Given the description of an element on the screen output the (x, y) to click on. 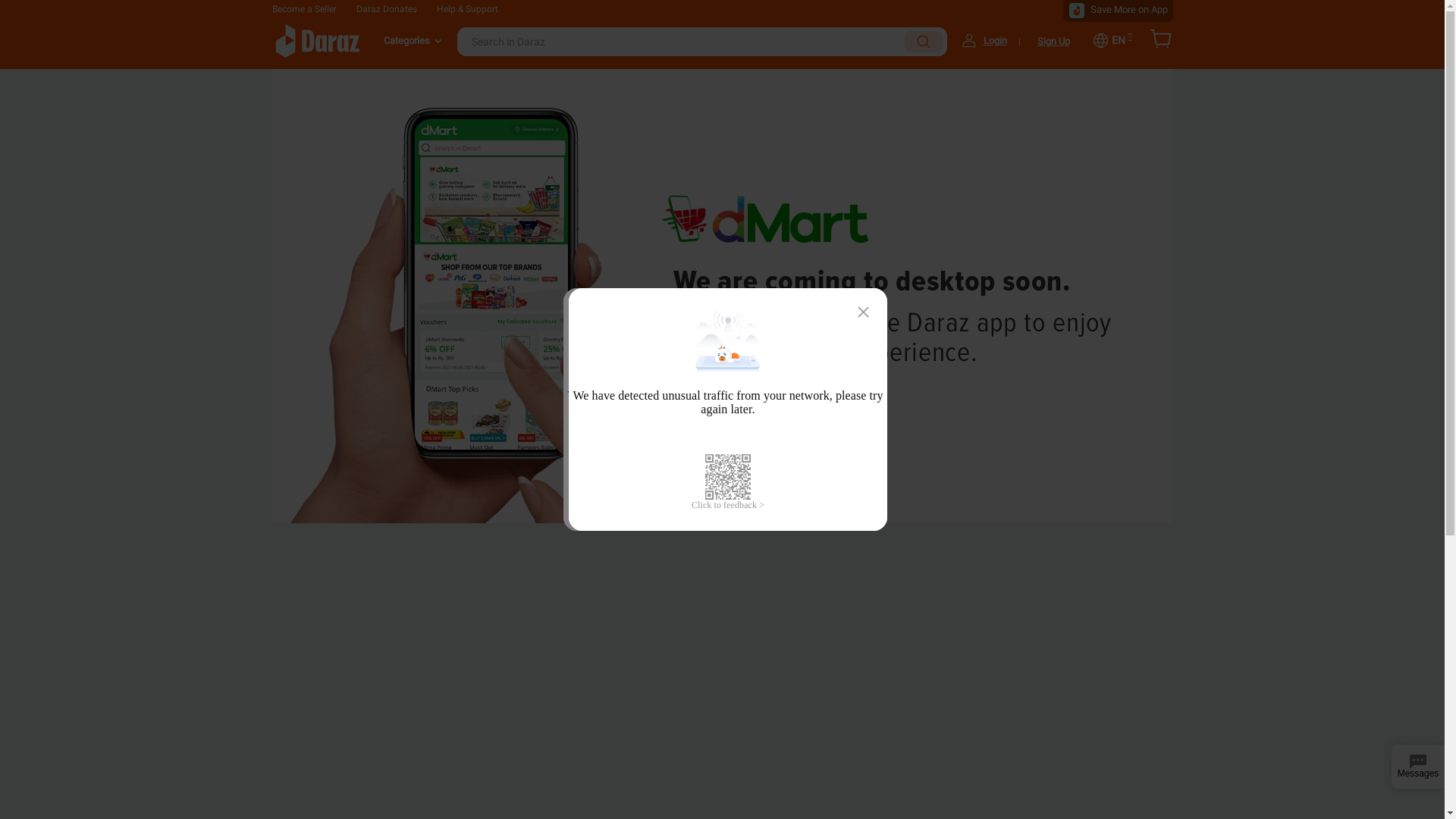
Daraz Donates Element type: text (386, 8)
Categories Element type: text (409, 41)
SEARCH Element type: text (922, 41)
Save More on App Element type: text (1128, 9)
Become a Seller Element type: text (303, 8)
Login Element type: text (994, 40)
Sign Up Element type: text (1053, 40)
Messages Element type: text (1417, 766)
